Given the description of an element on the screen output the (x, y) to click on. 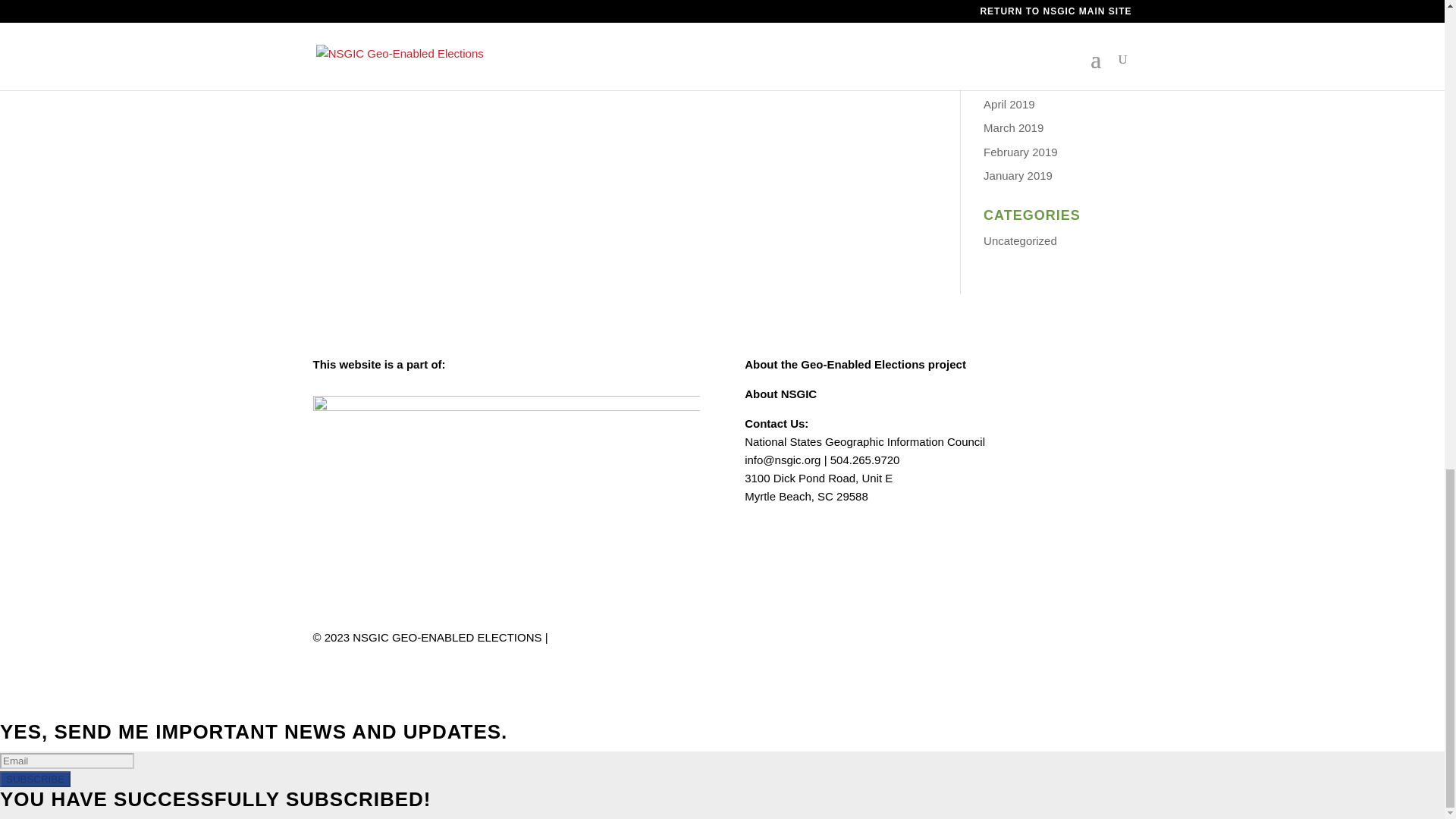
Follow on Facebook (1088, 640)
nsgicBW copy (505, 427)
Follow on Twitter (1118, 640)
